Given the description of an element on the screen output the (x, y) to click on. 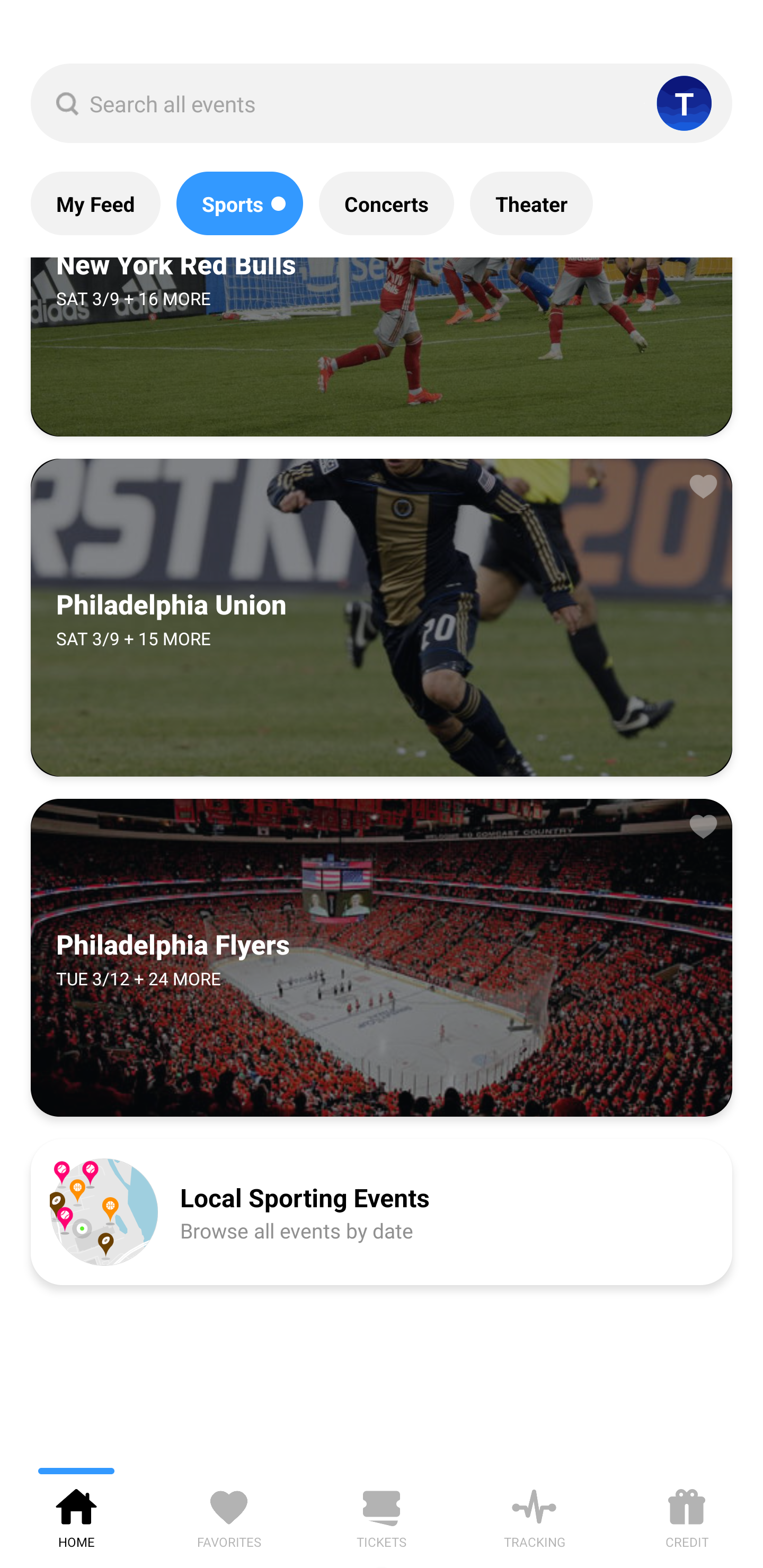
Search all events (381, 103)
T (683, 102)
My Feed (95, 202)
Sports (239, 202)
Concerts (385, 202)
Theater (531, 202)
HOME (76, 1515)
FAVORITES (228, 1515)
TICKETS (381, 1515)
TRACKING (533, 1515)
CREDIT (686, 1515)
